Given the description of an element on the screen output the (x, y) to click on. 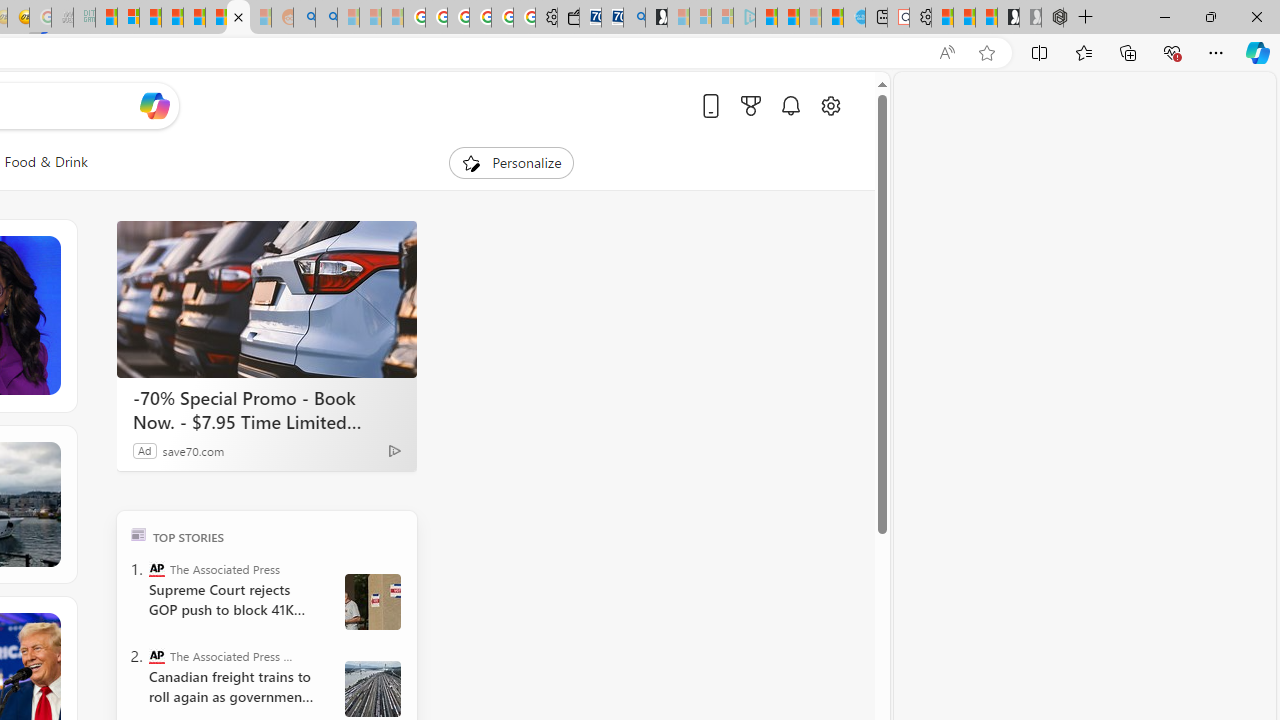
FOX News - MSN (238, 17)
save70.com (193, 450)
The Associated Press - Business News (156, 655)
Student Loan Update: Forgiveness Program Ends This Month (172, 17)
